Given the description of an element on the screen output the (x, y) to click on. 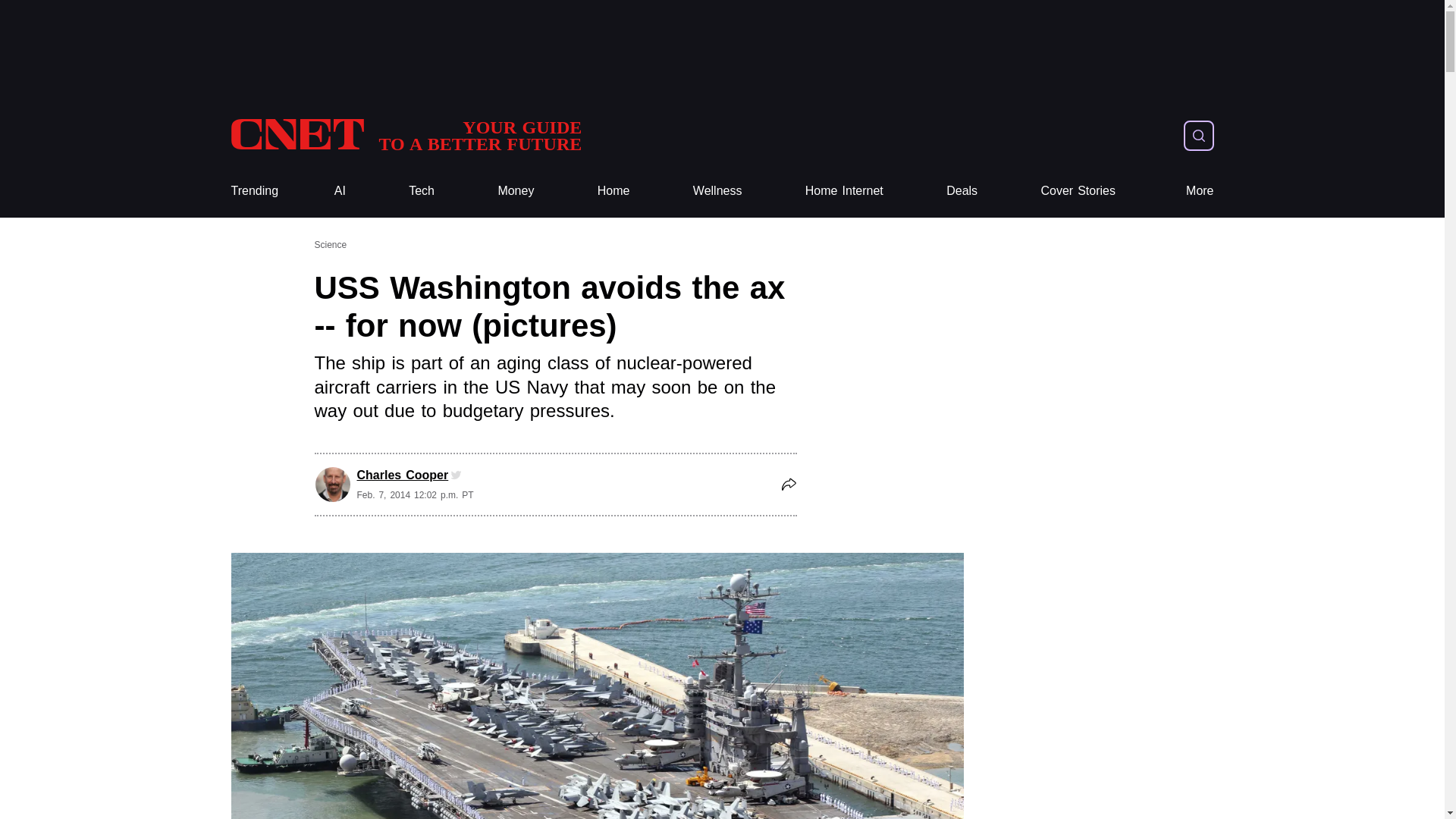
Home (613, 190)
CNET (405, 135)
Home (613, 190)
Money (515, 190)
Wellness (717, 190)
Cover Stories (1078, 190)
Home Internet (844, 190)
More (1199, 190)
Money (515, 190)
Tech (421, 190)
Deals (961, 190)
Trending (254, 190)
Home Internet (844, 190)
Wellness (717, 190)
Tech (421, 190)
